Given the description of an element on the screen output the (x, y) to click on. 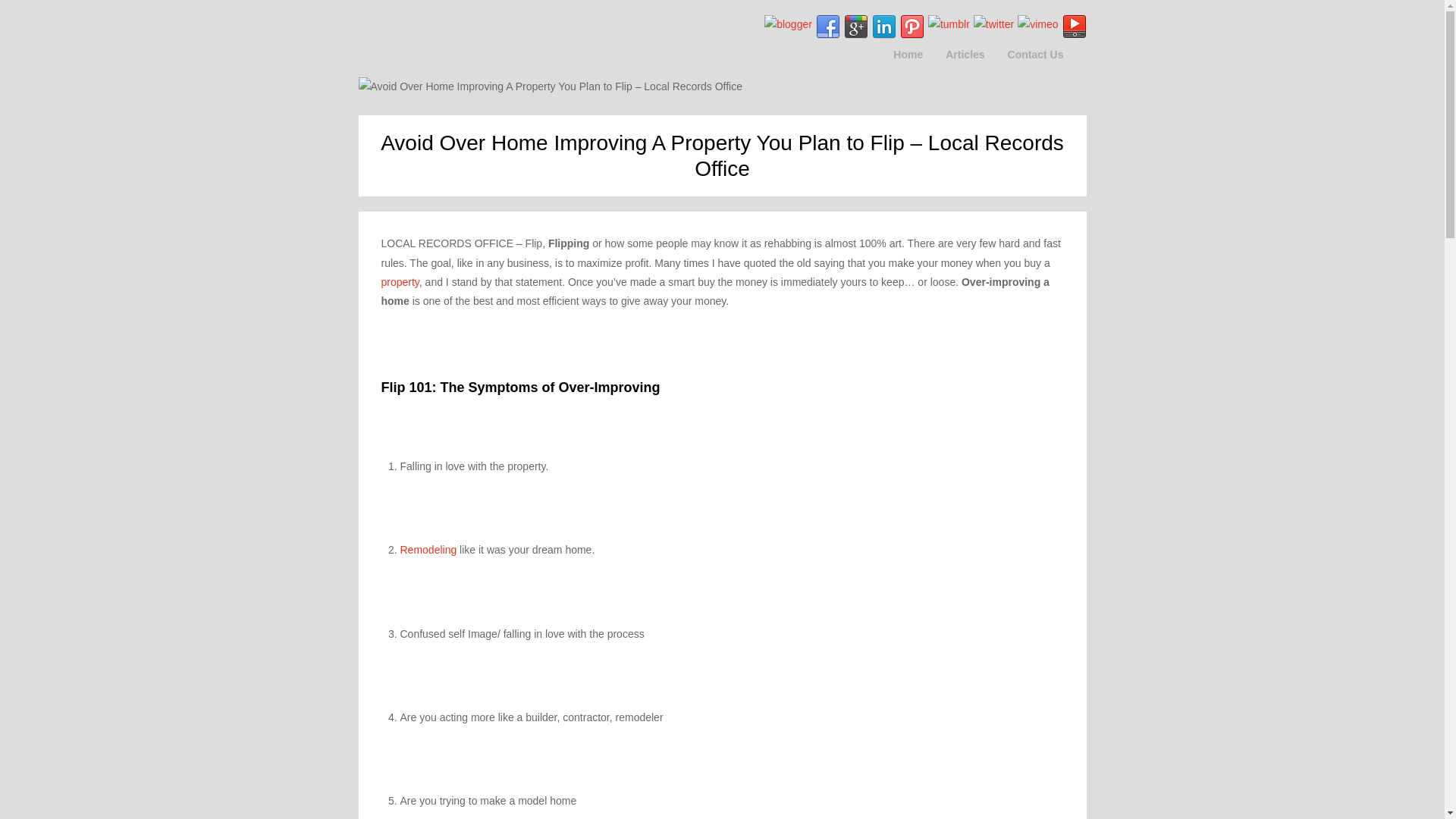
facebook (827, 27)
Remodeling (428, 549)
Home (908, 54)
tumblr (948, 24)
blogger (788, 24)
twitter (993, 24)
youtube (1073, 27)
vimeo (1037, 24)
Articles (964, 54)
Contact Us (1035, 54)
pinterest (911, 27)
google (855, 27)
property (399, 282)
linkedin (884, 27)
